Given the description of an element on the screen output the (x, y) to click on. 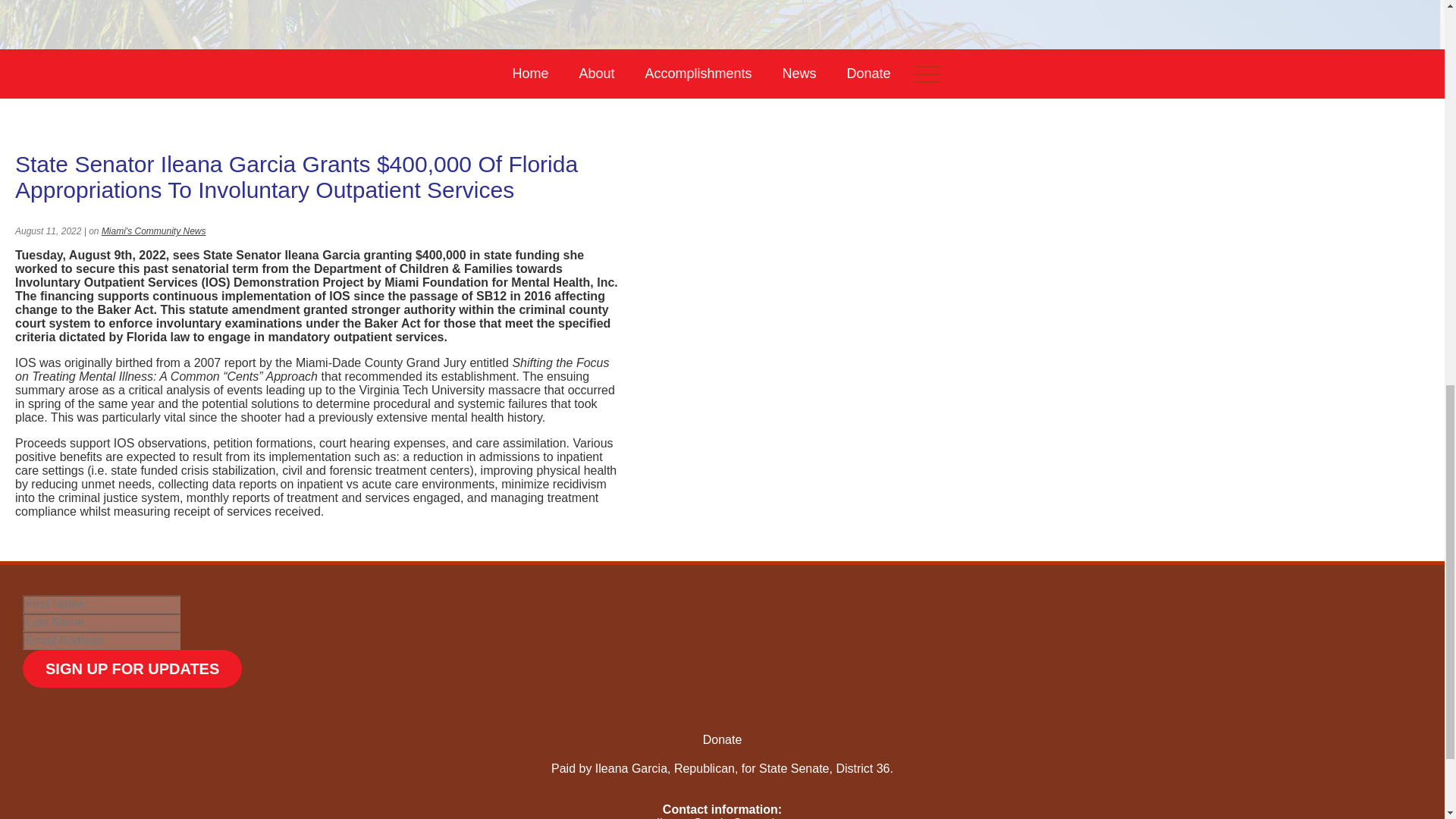
Donate (722, 739)
SIGN UP FOR UPDATES (132, 668)
Donate (868, 73)
Miami's Community News (153, 231)
News (799, 73)
Home (529, 73)
Accomplishments (697, 73)
About (595, 73)
